Given the description of an element on the screen output the (x, y) to click on. 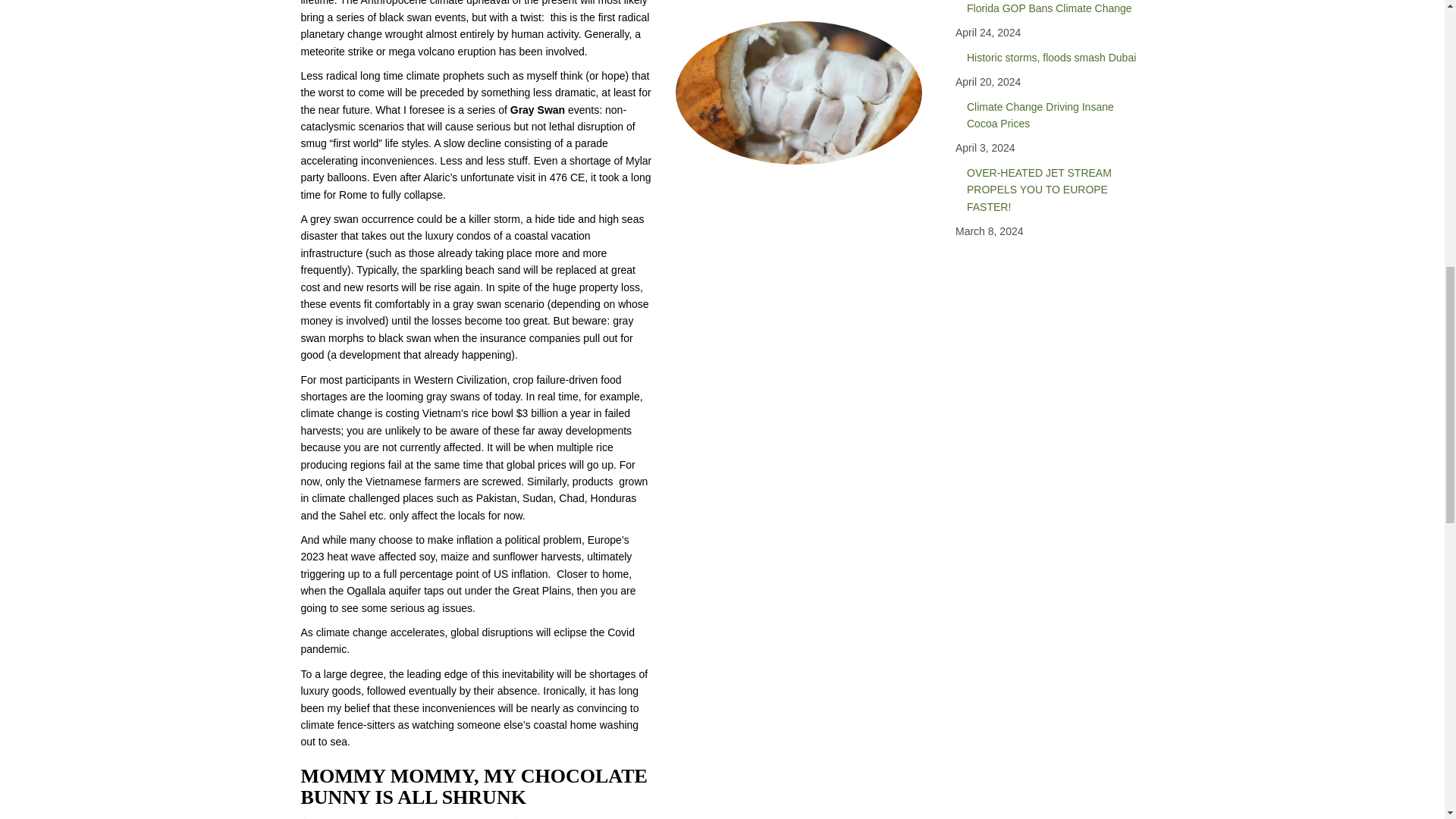
Mylar party balloons (474, 168)
Climate Change Driving Insane Cocoa Prices (1054, 115)
Florida GOP Bans Climate Change (1054, 12)
Cocoa prices leap driven by climate change (798, 92)
Historic storms, floods smash Dubai (1054, 57)
OVER-HEATED JET STREAM PROPELS YOU TO EUROPE FASTER! (1054, 189)
